Given the description of an element on the screen output the (x, y) to click on. 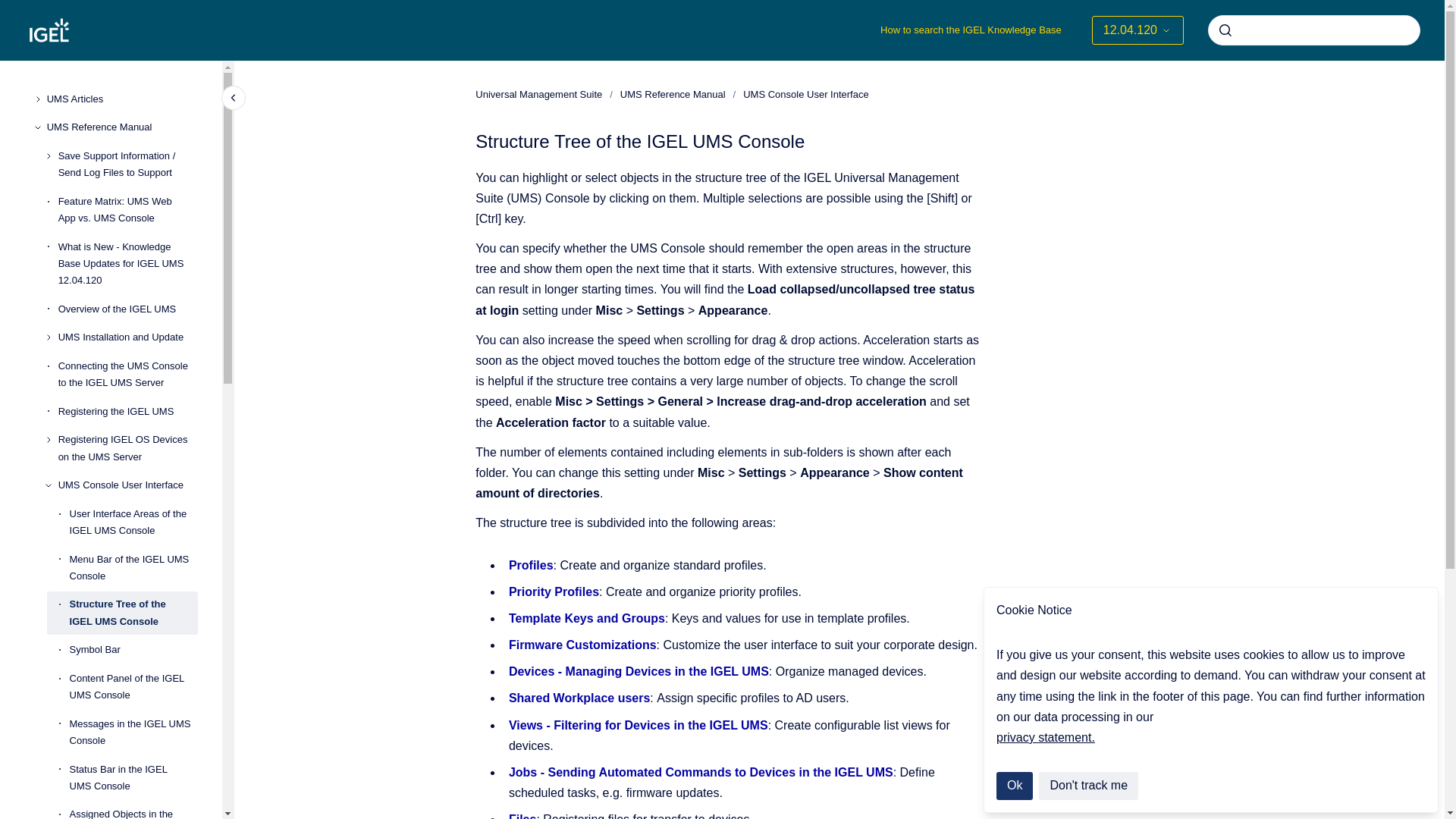
UMS Articles (122, 99)
UMS Console User Interface (128, 484)
Ok (1013, 786)
Connecting the UMS Console to the IGEL UMS Server (128, 374)
Content Panel of the IGEL UMS Console (133, 687)
Status Bar in the IGEL UMS Console (133, 777)
Assigned Objects in the IGEL UMS Console (133, 809)
UMS Reference Manual (122, 127)
Structure Tree of the IGEL UMS Console (133, 613)
Symbol Bar (133, 649)
